Given the description of an element on the screen output the (x, y) to click on. 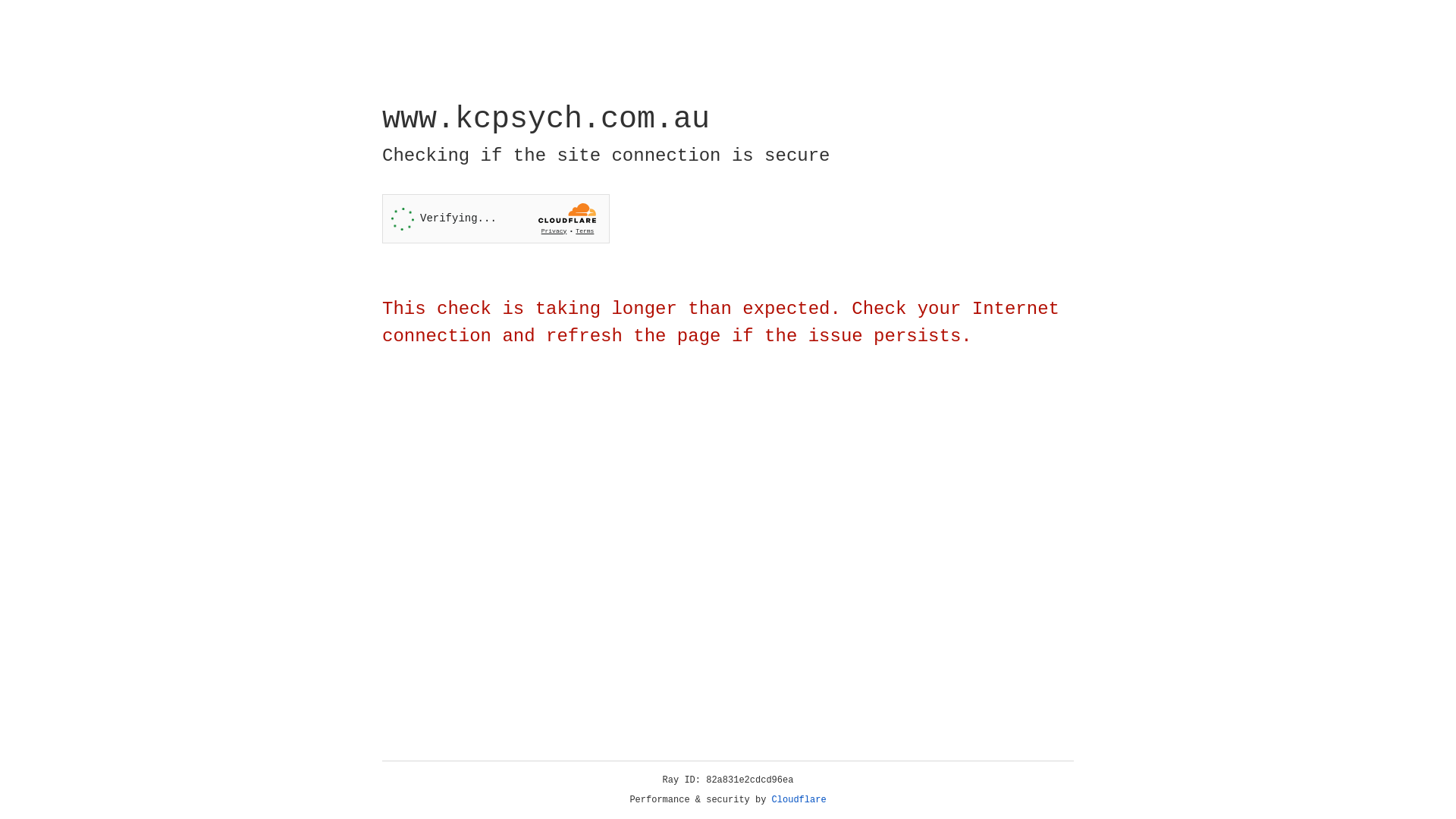
Widget containing a Cloudflare security challenge Element type: hover (495, 218)
Cloudflare Element type: text (798, 799)
